Given the description of an element on the screen output the (x, y) to click on. 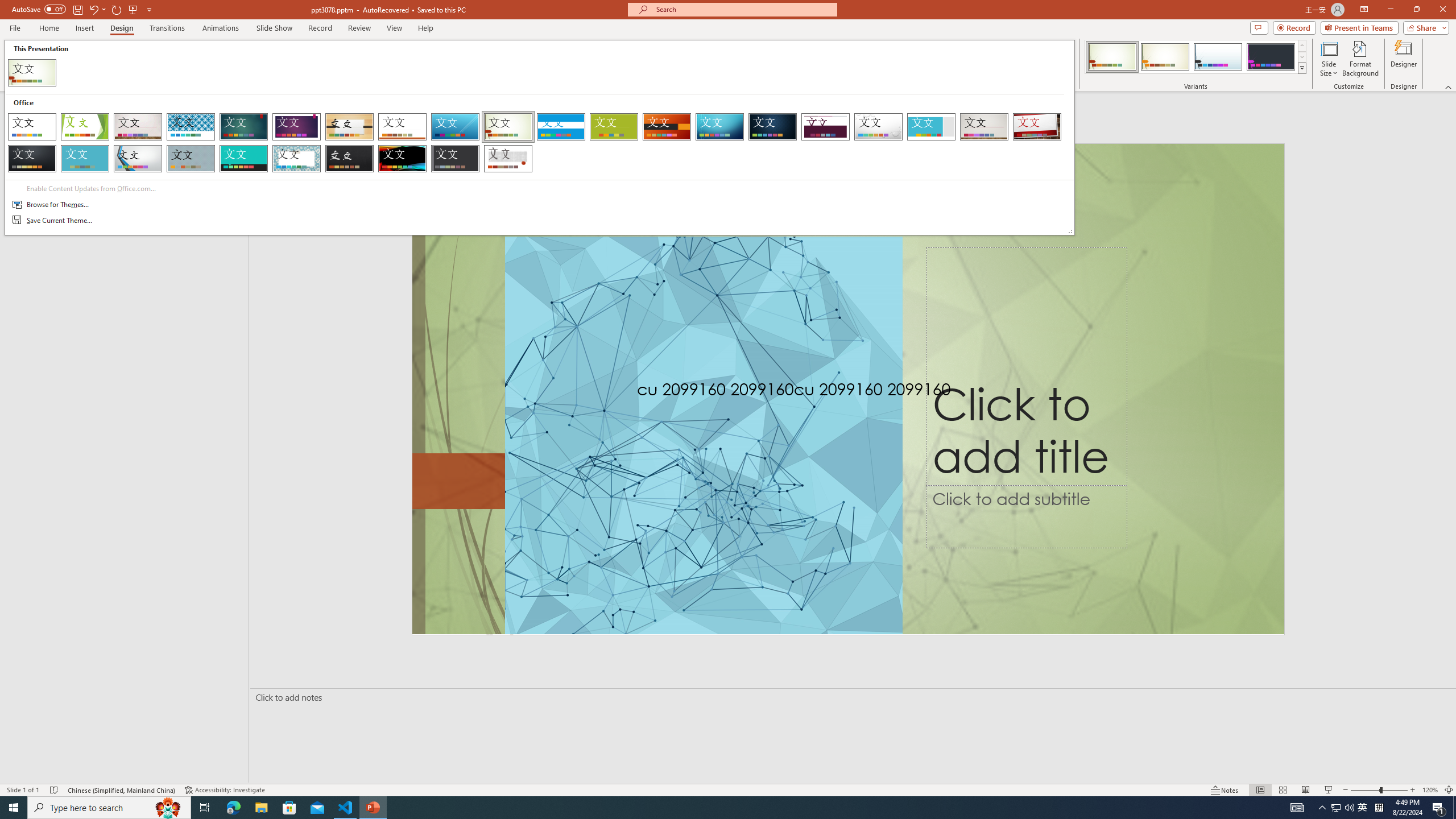
Microsoft Edge (233, 807)
Notification Chevron (1322, 807)
Spell Check No Errors (54, 790)
Class: Net UI Tool Window (539, 137)
Format Background (1360, 58)
User Promoted Notification Area (1342, 807)
Start (13, 807)
